Given the description of an element on the screen output the (x, y) to click on. 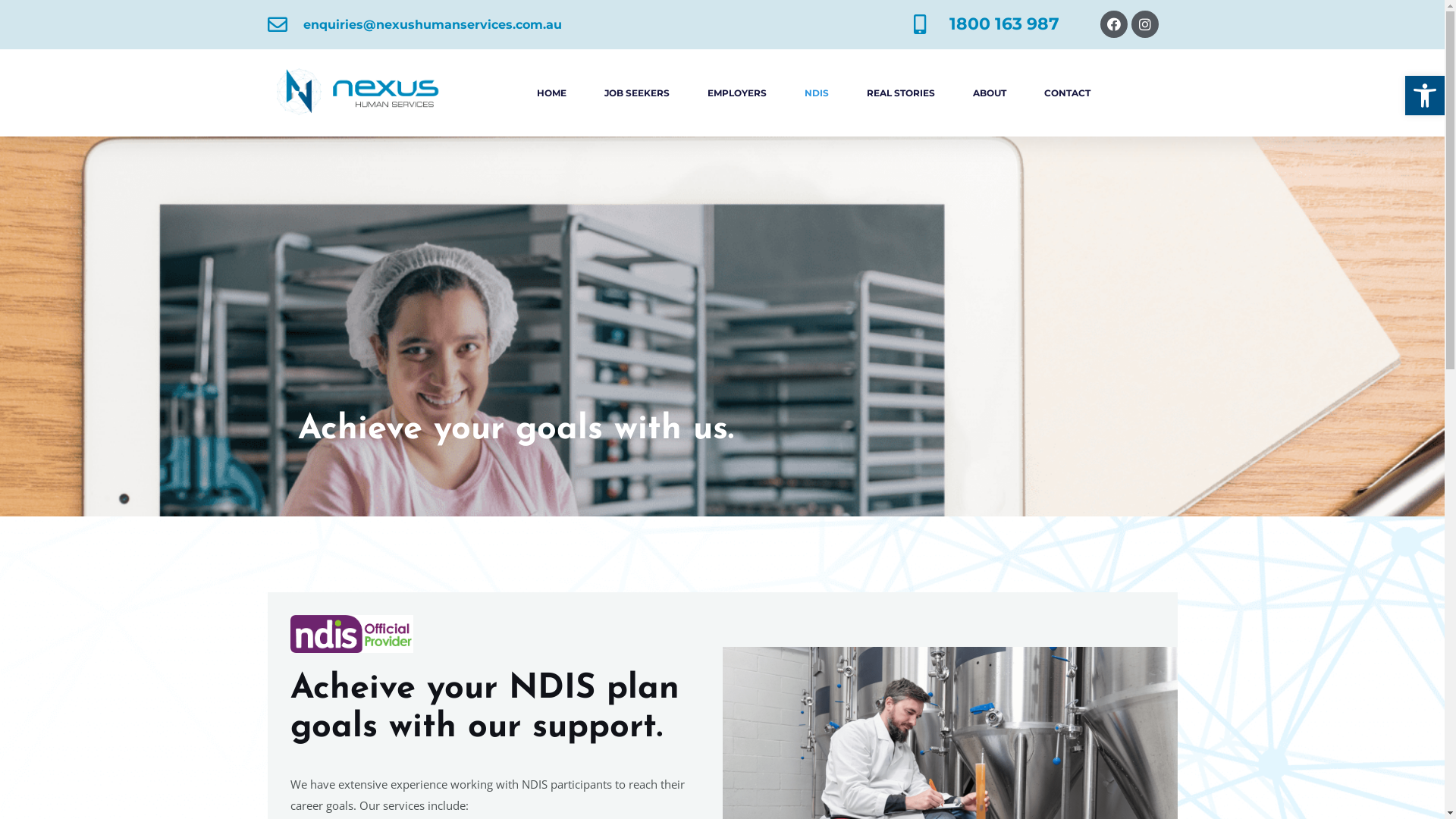
nexus landscape logo Element type: hover (357, 92)
JOB SEEKERS Element type: text (635, 92)
1800 163 987 Element type: text (986, 24)
EMPLOYERS Element type: text (735, 92)
Open toolbar
Accessibility Tools Element type: text (1424, 95)
HOME Element type: text (551, 92)
ABOUT Element type: text (988, 92)
NDIS Element type: text (815, 92)
Facebook Element type: text (1113, 23)
CONTACT Element type: text (1066, 92)
enquiries@nexushumanservices.com.au Element type: text (413, 24)
REAL STORIES Element type: text (900, 92)
Instagram Element type: text (1144, 23)
